Given the description of an element on the screen output the (x, y) to click on. 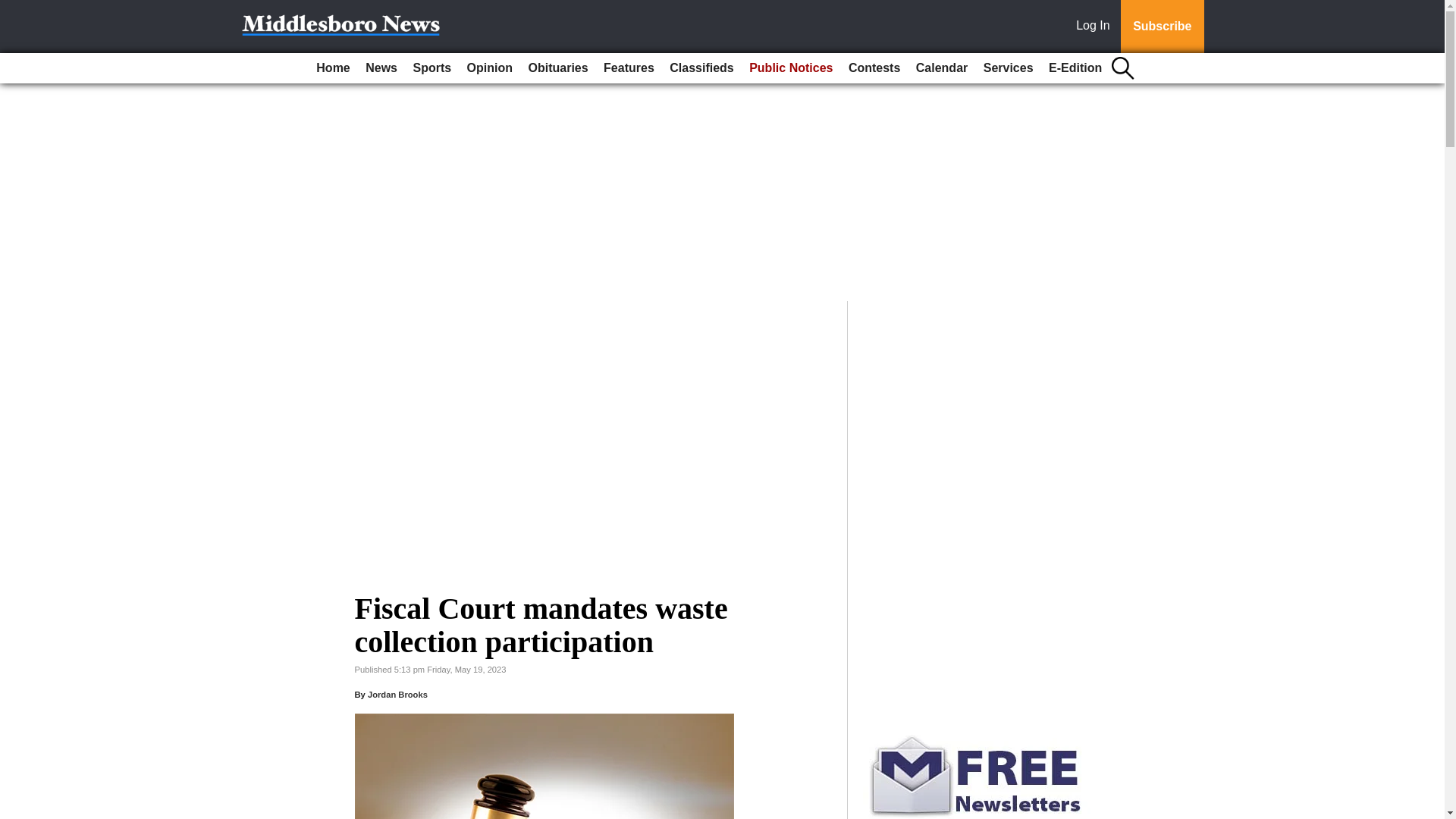
Contests (874, 68)
Sports (431, 68)
Features (628, 68)
Services (1007, 68)
Classifieds (701, 68)
Home (332, 68)
Go (13, 9)
Jordan Brooks (398, 694)
E-Edition (1075, 68)
Log In (1095, 26)
News (381, 68)
Subscribe (1162, 26)
Obituaries (557, 68)
Calendar (942, 68)
Public Notices (790, 68)
